Given the description of an element on the screen output the (x, y) to click on. 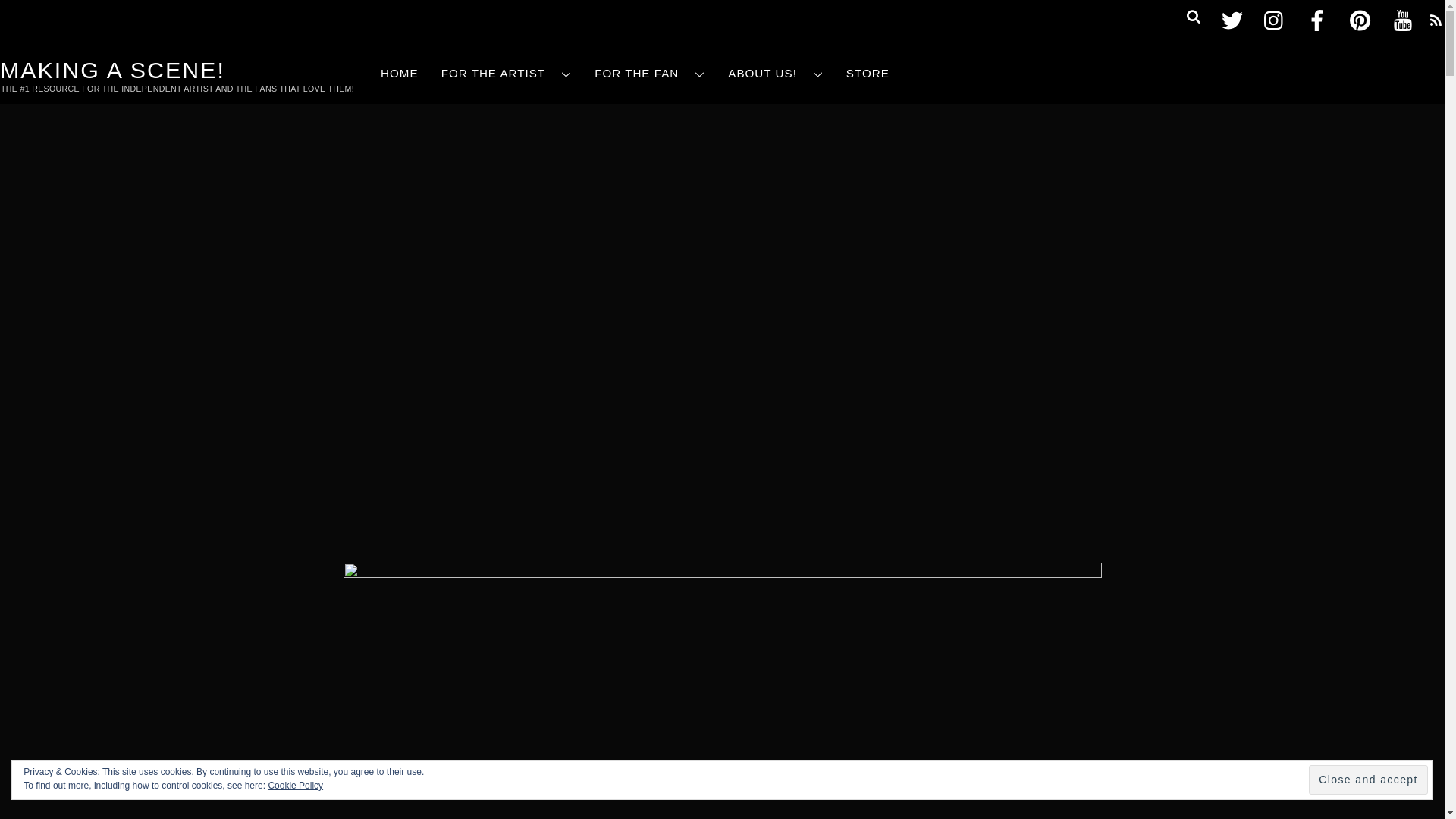
STORE (867, 74)
FOR THE ARTIST (506, 74)
HOME (399, 74)
Close and accept (1368, 779)
FOR THE FAN (649, 74)
MAKING A SCENE! (112, 69)
ABOUT US! (775, 74)
Making A Scene! (112, 69)
